Given the description of an element on the screen output the (x, y) to click on. 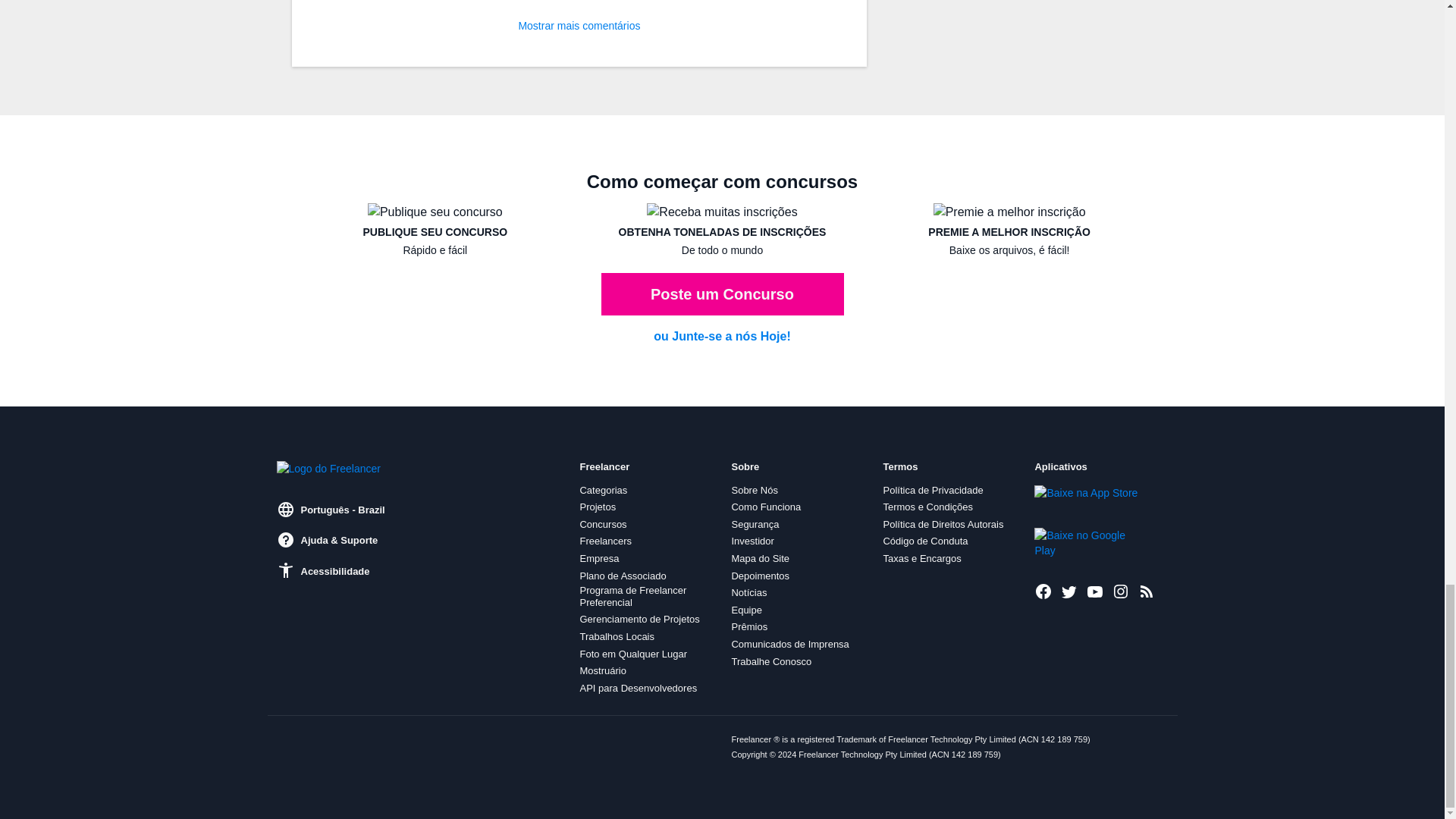
Empresa (598, 558)
Freelancer no Facebook (1042, 591)
Freelancer no Youtube (1094, 591)
Concursos (602, 524)
Foto em Qualquer Lugar (633, 654)
Freelancer no Instagram (1120, 591)
Freelancers (605, 541)
Poste um Concurso (721, 293)
Gerenciamento de Projetos (638, 619)
Projetos mais Recentes (1146, 591)
